Given the description of an element on the screen output the (x, y) to click on. 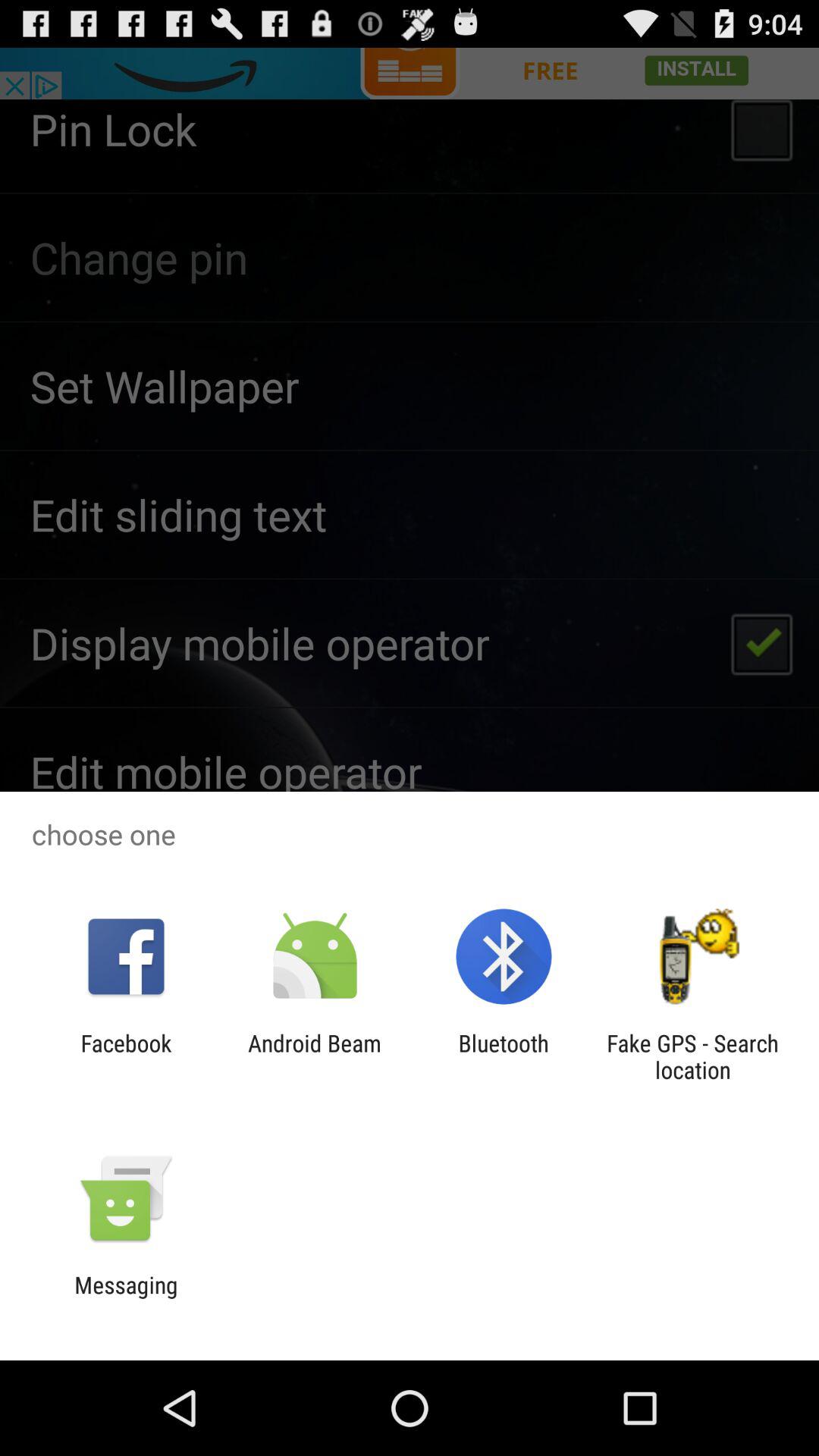
turn off icon to the right of the facebook (314, 1056)
